Given the description of an element on the screen output the (x, y) to click on. 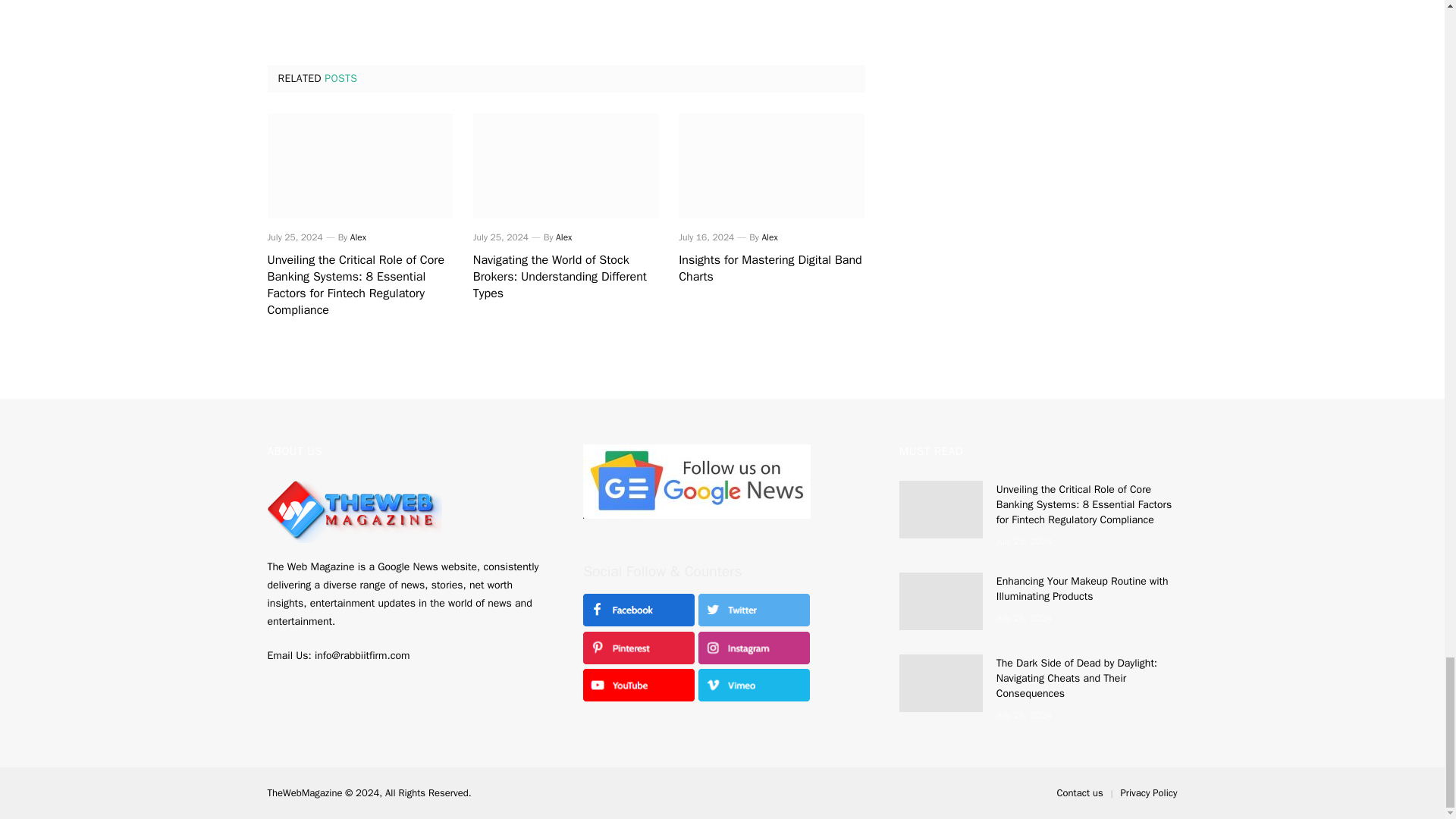
Alex (769, 236)
Posts by Alex (564, 236)
Insights for Mastering Digital Band Charts (771, 268)
Alex (564, 236)
Alex (358, 236)
Posts by Alex (358, 236)
